Given the description of an element on the screen output the (x, y) to click on. 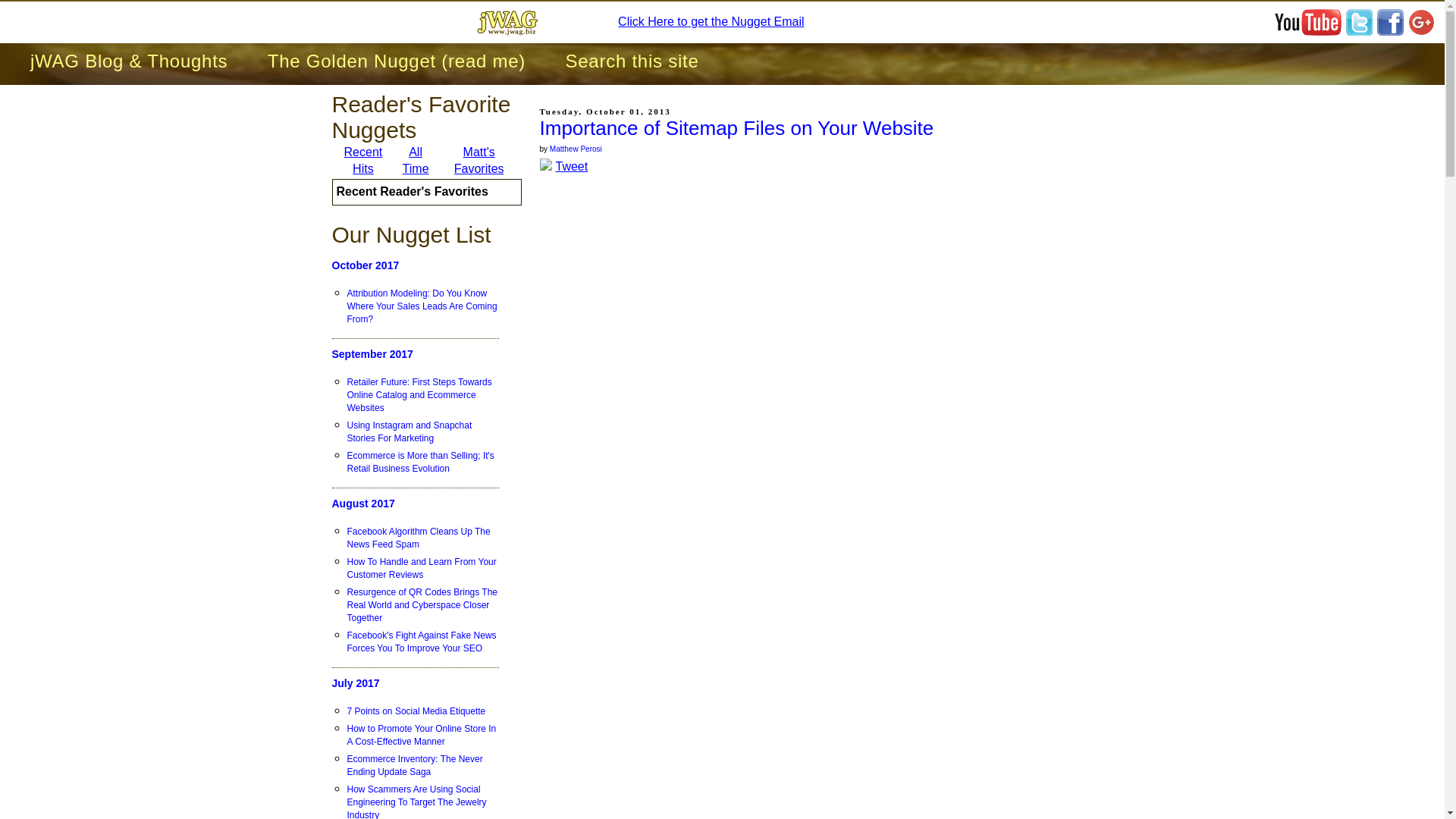
7 Points on Social Media Etiquette (423, 711)
October 2017 (415, 265)
Recent Hits (362, 160)
How to Promote Your Online Store In A Cost-Effective Manner (423, 735)
Search this site (632, 60)
July 2017 (415, 683)
Click Here to get the Nugget Email (710, 21)
